Given the description of an element on the screen output the (x, y) to click on. 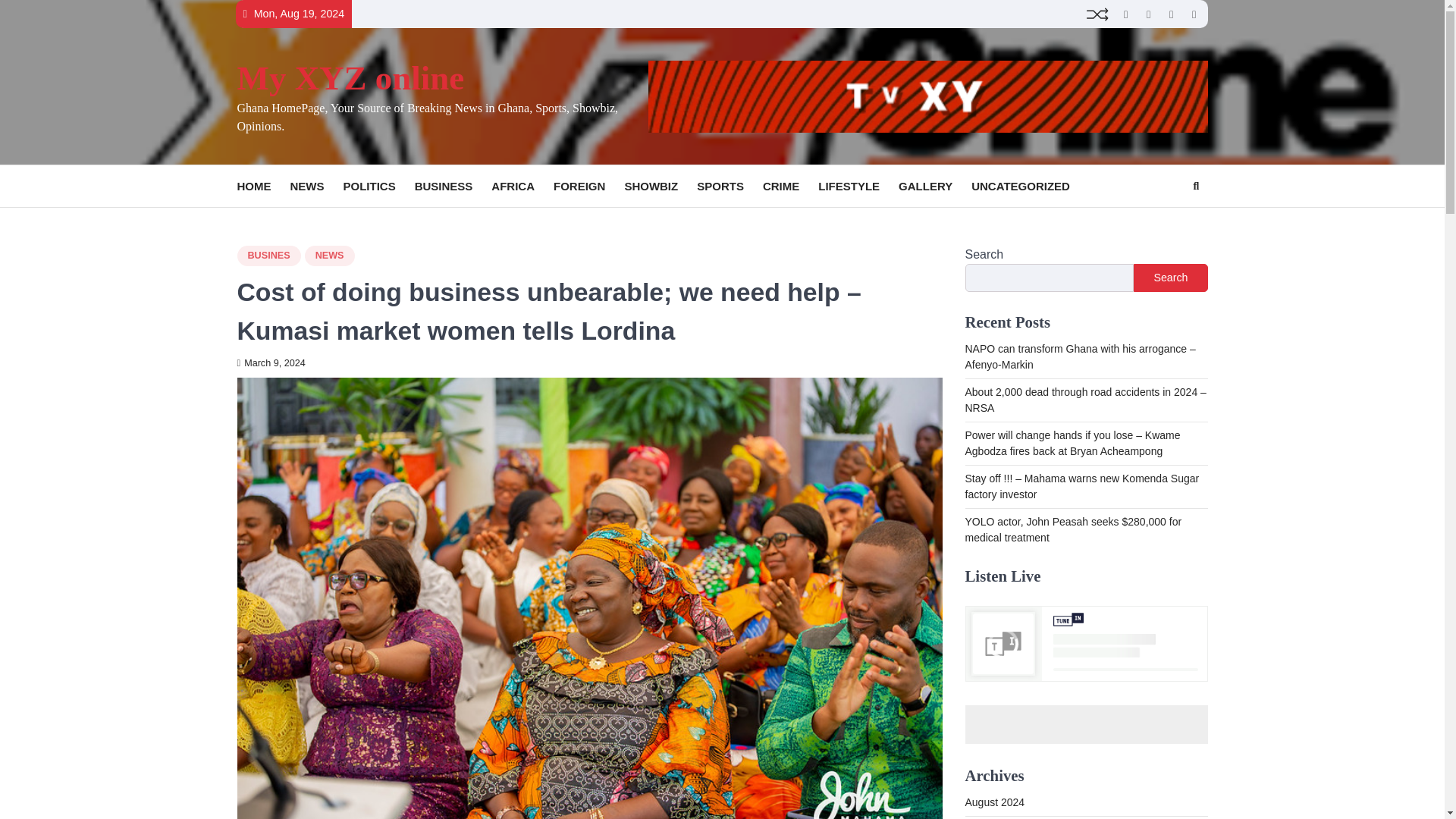
BUSINESS (453, 187)
Facebook (1193, 14)
GALLERY (934, 187)
Search (1168, 221)
HOME (262, 187)
LIFESTYLE (858, 187)
My XYZ online (349, 77)
Twitter (1125, 14)
UNCATEGORIZED (1030, 187)
CRIME (790, 187)
